Given the description of an element on the screen output the (x, y) to click on. 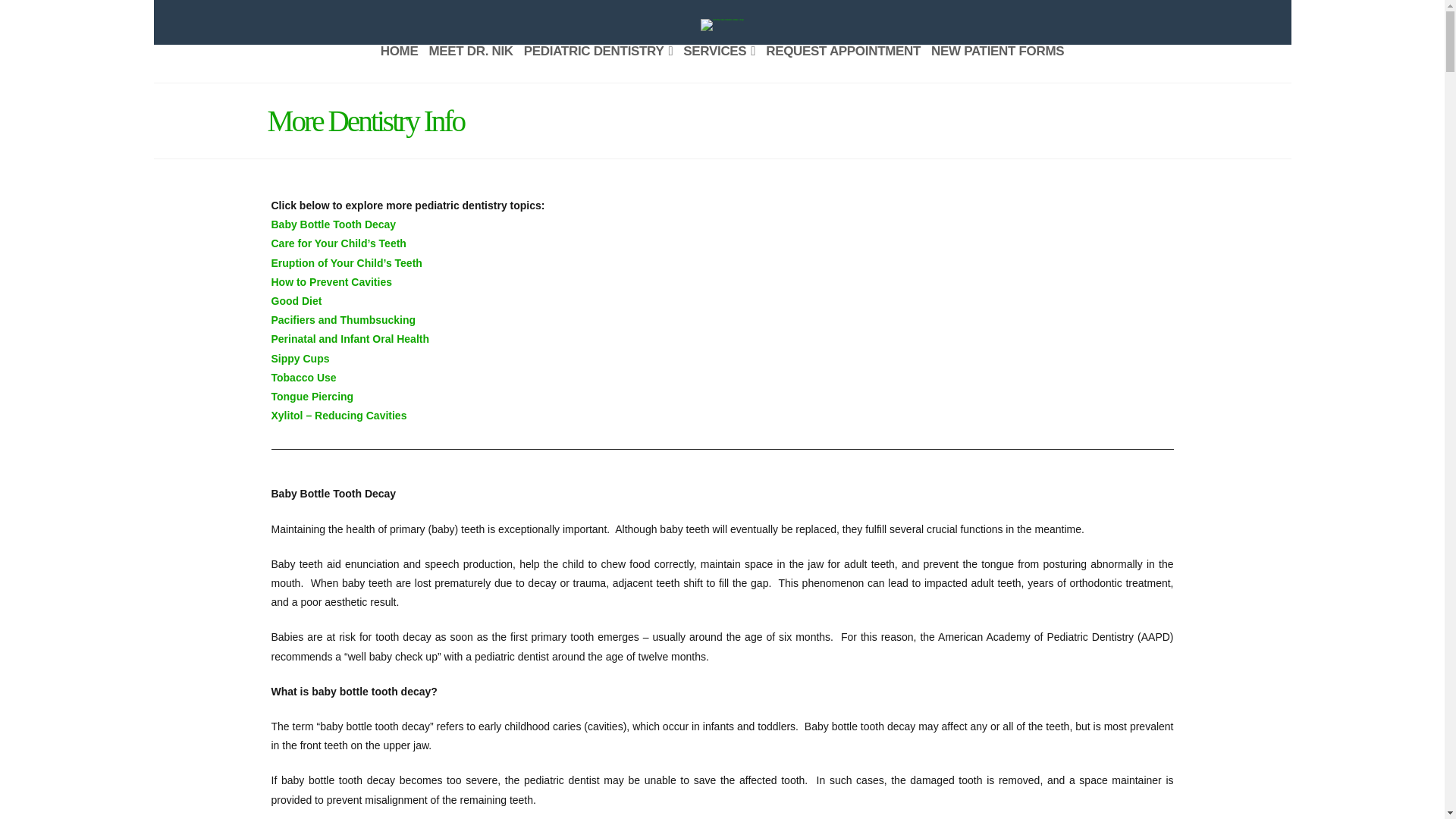
HOME (399, 63)
Pacifiers and Thumbsucking (343, 319)
MEET DR. NIK (470, 63)
Good Diet (295, 300)
NEW PATIENT FORMS (997, 63)
Baby Bottle Tooth Decay (333, 224)
Sippy Cups (300, 357)
SERVICES (719, 63)
How to Prevent Cavities (331, 282)
Tobacco Use (303, 377)
REQUEST APPOINTMENT (843, 63)
Perinatal and Infant Oral Health (349, 338)
Beverly Hills Pediatric Dental Group (721, 24)
PEDIATRIC DENTISTRY (598, 63)
Tongue Piercing (311, 396)
